Given the description of an element on the screen output the (x, y) to click on. 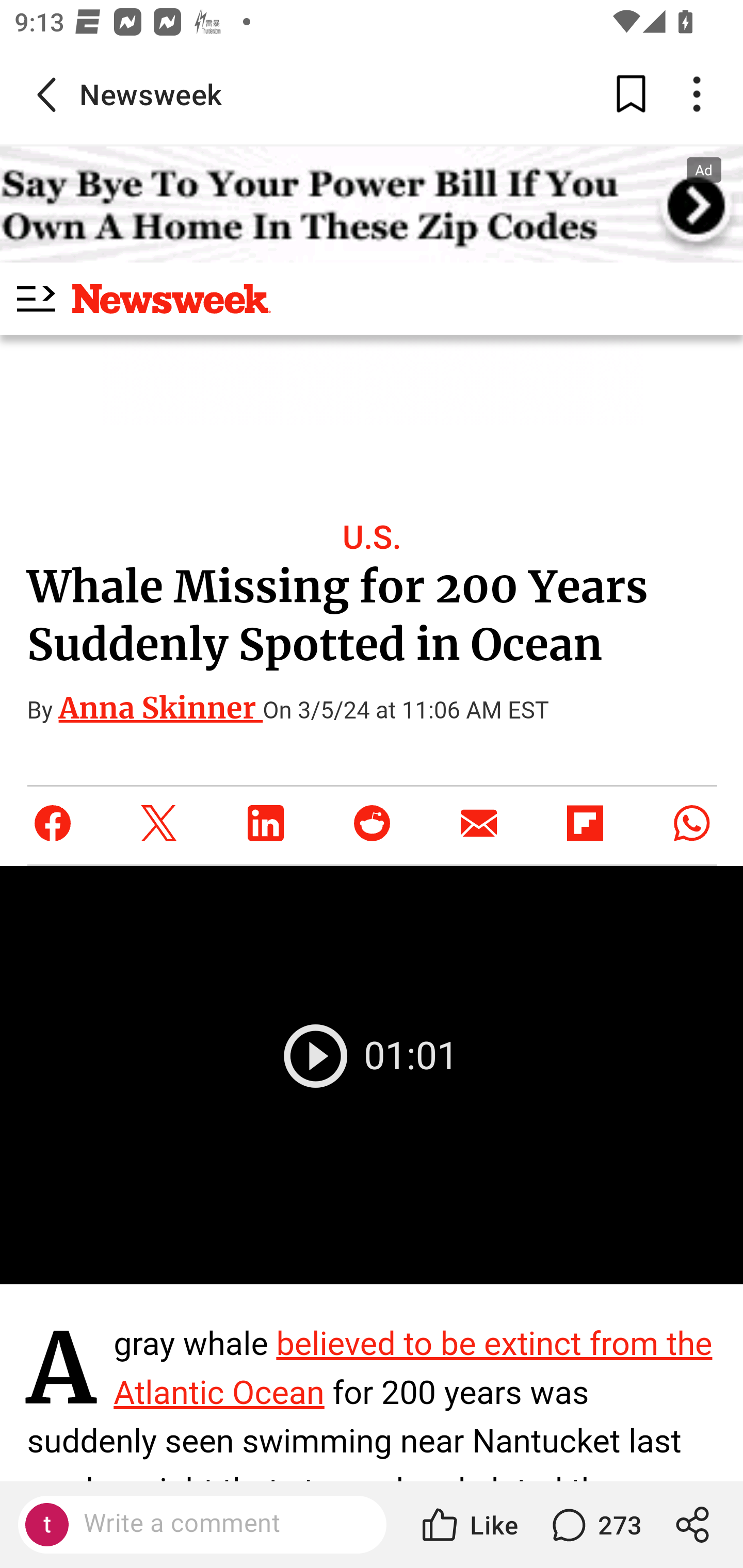
Like (468, 1524)
273 (594, 1524)
Write a comment (219, 1523)
